Given the description of an element on the screen output the (x, y) to click on. 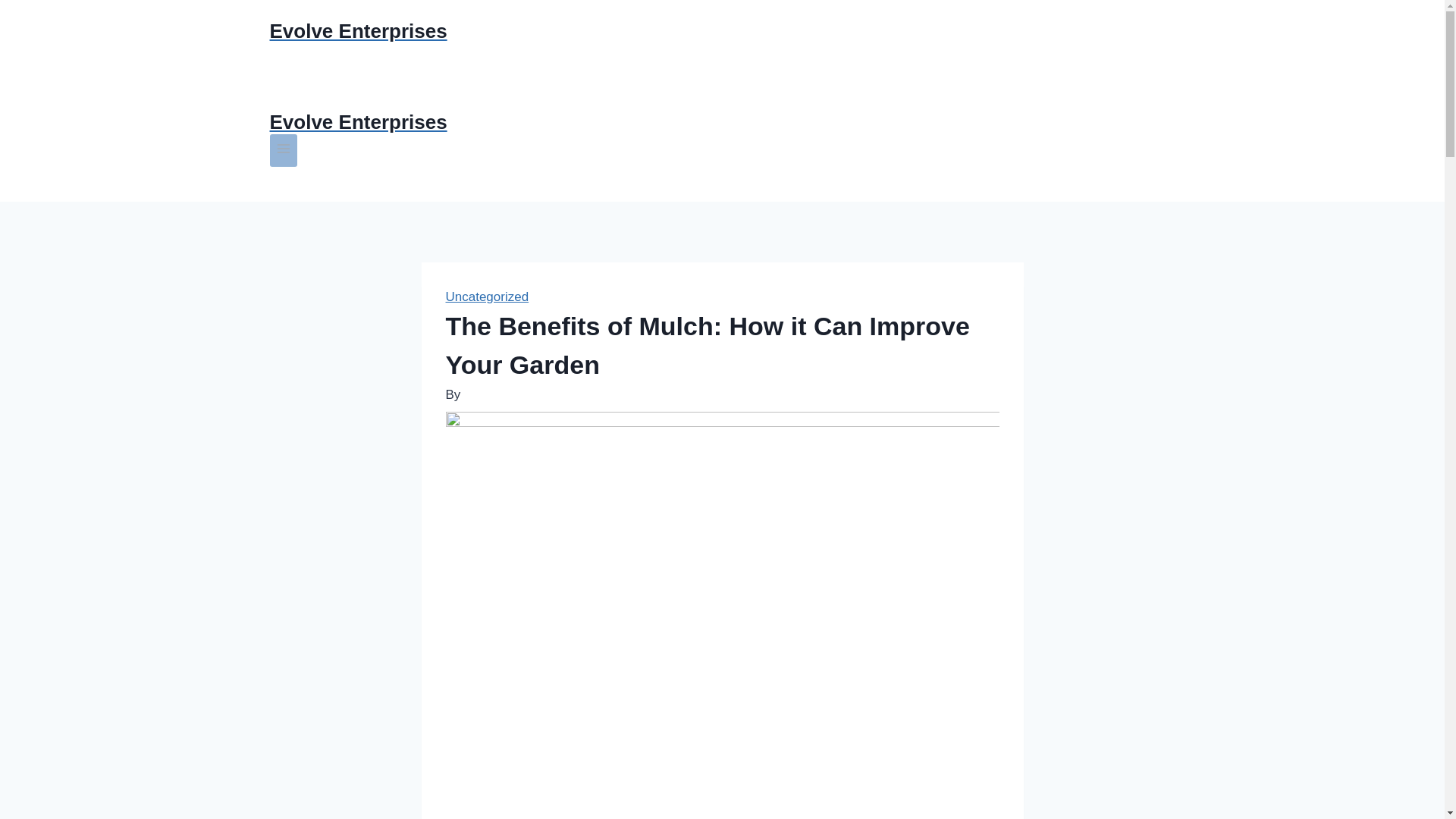
Evolve Enterprises (721, 122)
Uncategorized (487, 296)
Evolve Enterprises (721, 31)
